Given the description of an element on the screen output the (x, y) to click on. 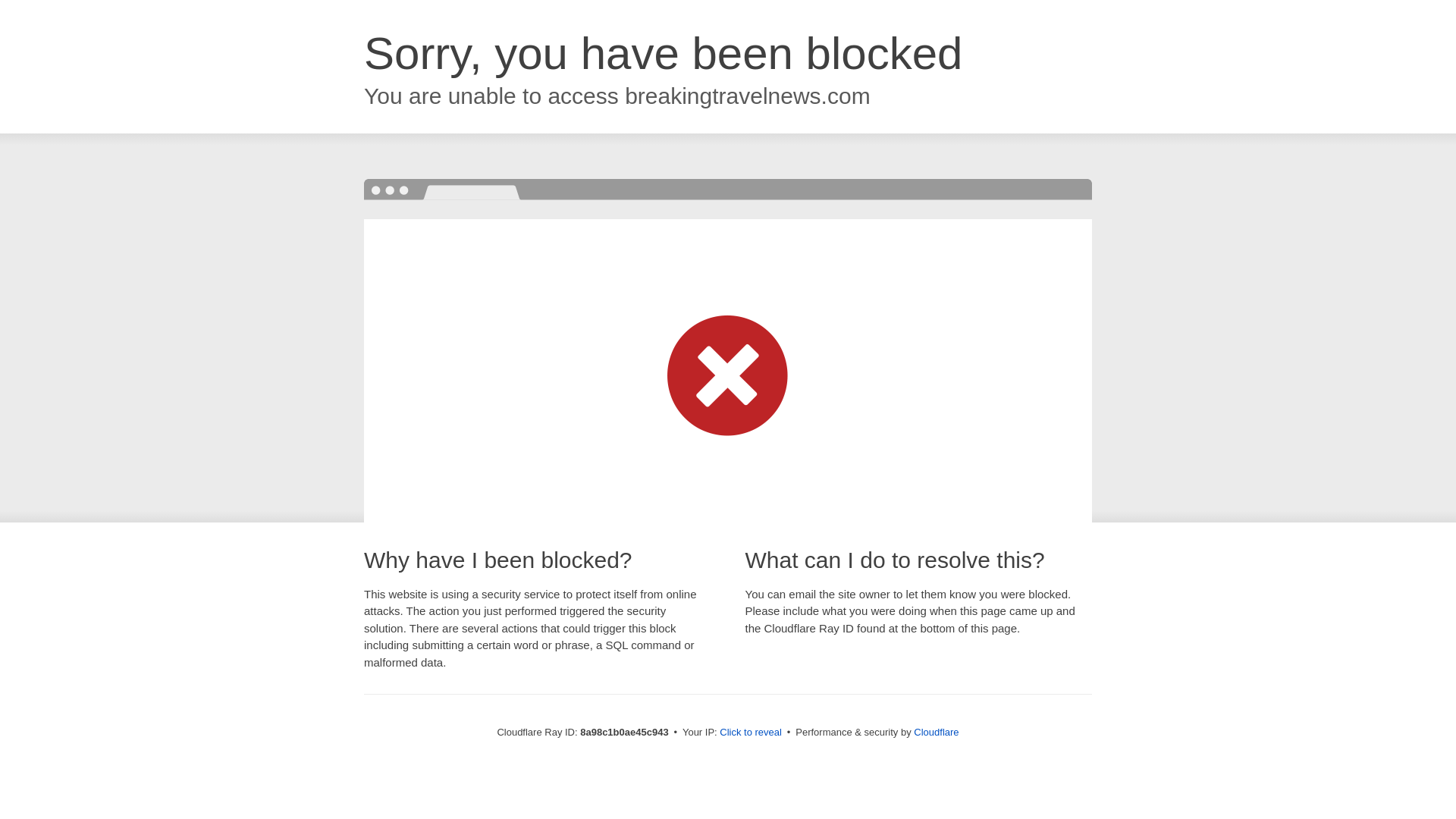
Cloudflare (936, 731)
Click to reveal (750, 732)
